Given the description of an element on the screen output the (x, y) to click on. 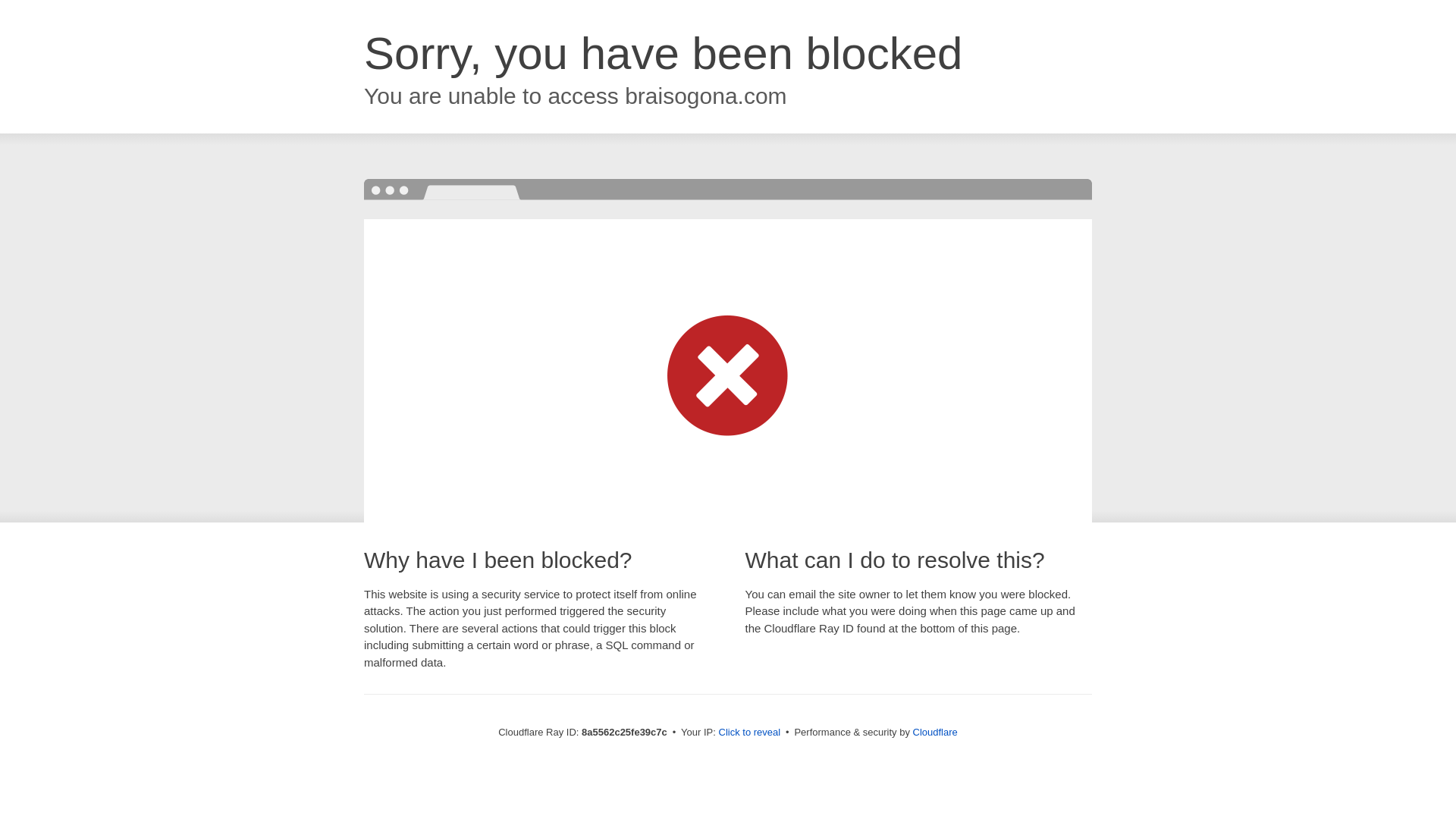
Cloudflare (935, 731)
Click to reveal (749, 732)
